Given the description of an element on the screen output the (x, y) to click on. 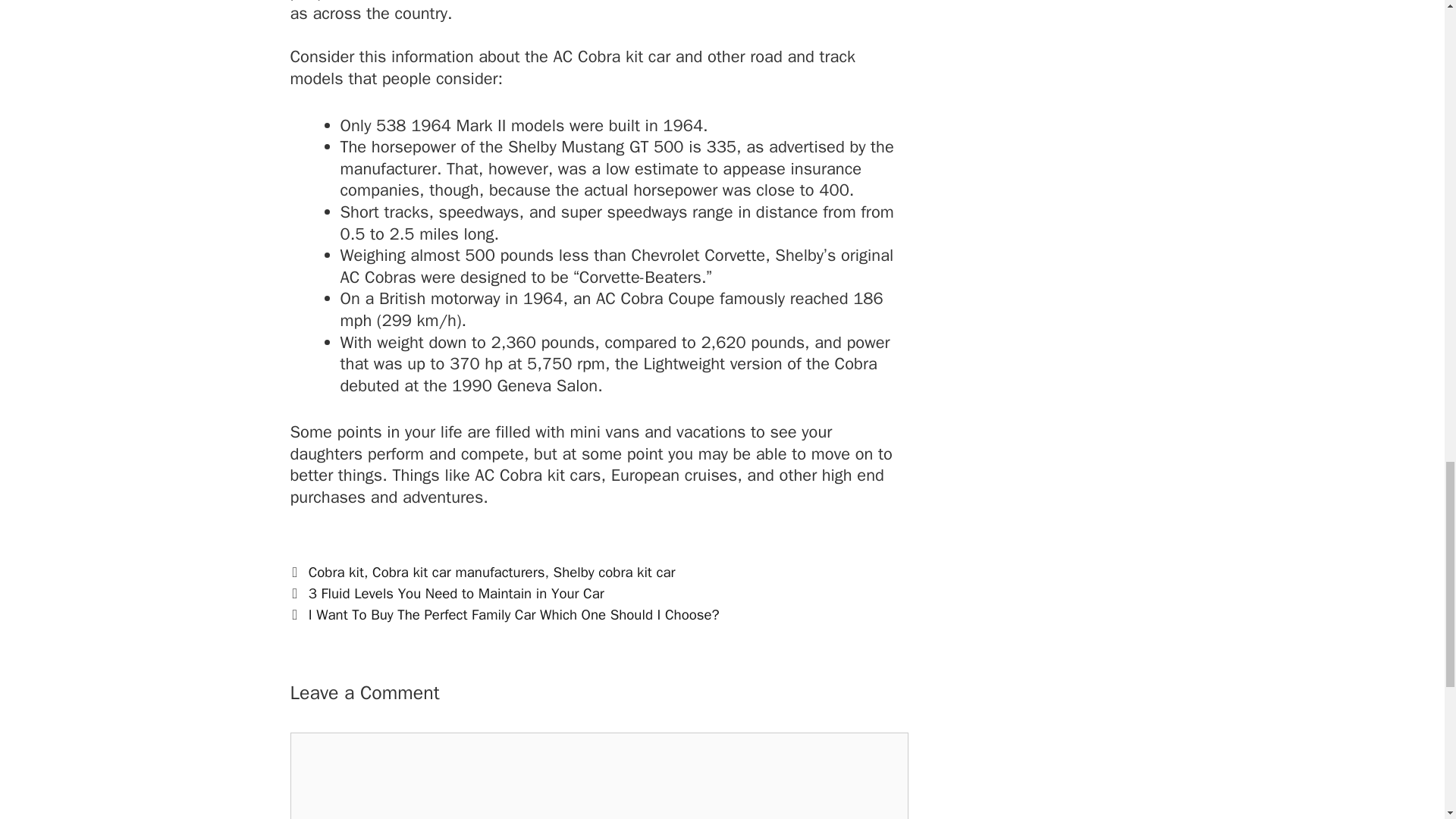
Shelby cobra kit car (614, 572)
Next (504, 615)
3 Fluid Levels You Need to Maintain in Your Car (456, 593)
Cobra kit (336, 572)
Previous (446, 593)
Cobra kit car manufacturers (458, 572)
